Given the description of an element on the screen output the (x, y) to click on. 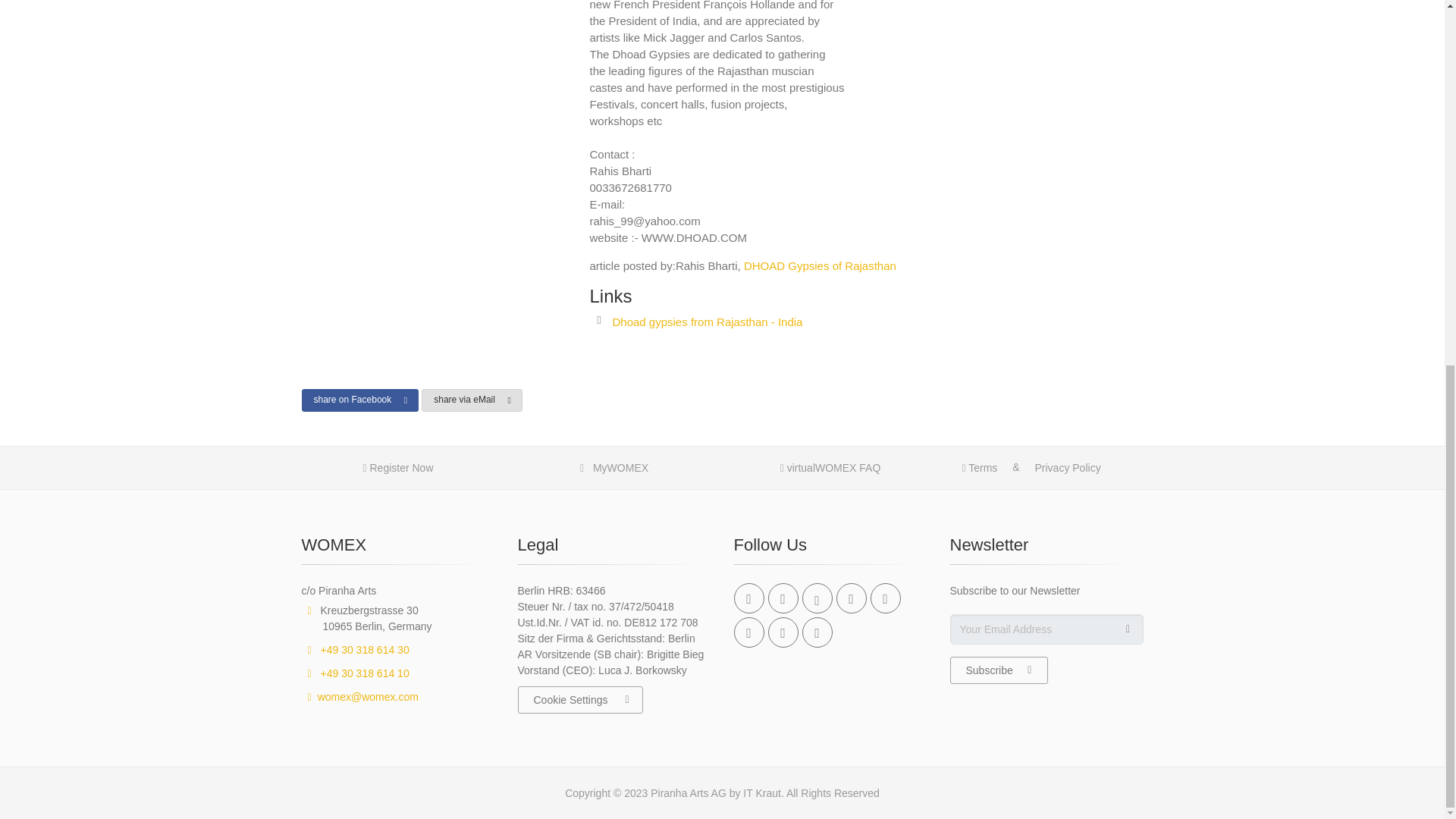
share via eMail (472, 400)
DHOAD Gypsies of Rajasthan (820, 265)
Register Now (397, 468)
MyWOMEX (614, 468)
share on Facebook (360, 400)
Dhoad gypsies from Rajasthan - India (706, 321)
